Given the description of an element on the screen output the (x, y) to click on. 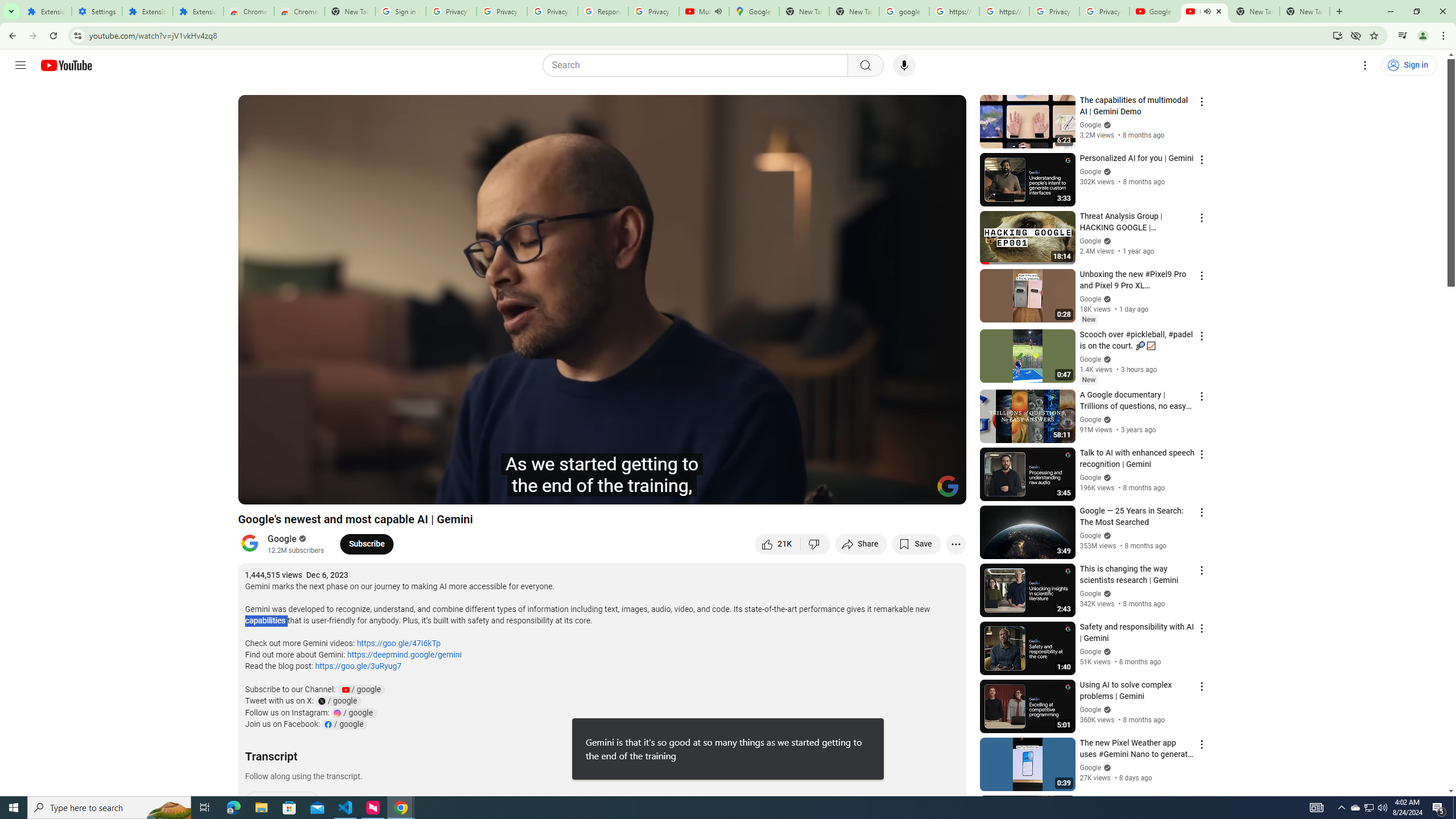
Share (861, 543)
Twitter Channel Link: google (337, 700)
Miniplayer (i) (890, 490)
Install YouTube (1336, 35)
Search with your voice (903, 65)
Dislike this video (815, 543)
https://deepmind.google/gemini (403, 655)
https://scholar.google.com/ (1004, 11)
Extensions (197, 11)
